Given the description of an element on the screen output the (x, y) to click on. 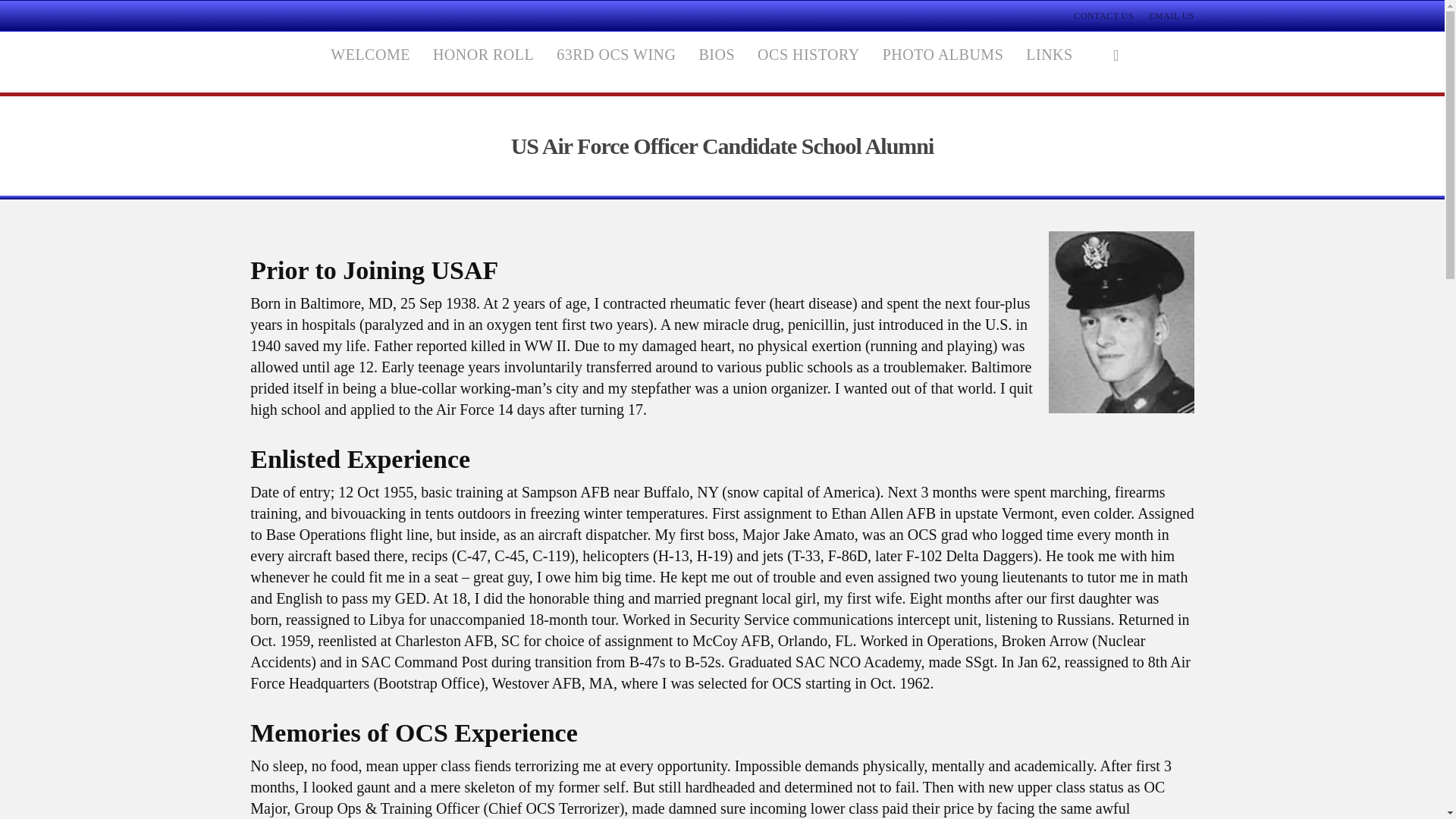
63RD OCS WING (615, 62)
EMAIL US (1170, 15)
OCS HISTORY (807, 62)
PHOTO ALBUMS (942, 62)
CONTACT US (1104, 15)
BIOS (716, 62)
HONOR ROLL (483, 62)
WELCOME (370, 62)
US Air Force Officer Candidate School Alumni (721, 146)
LINKS (1048, 62)
